Given the description of an element on the screen output the (x, y) to click on. 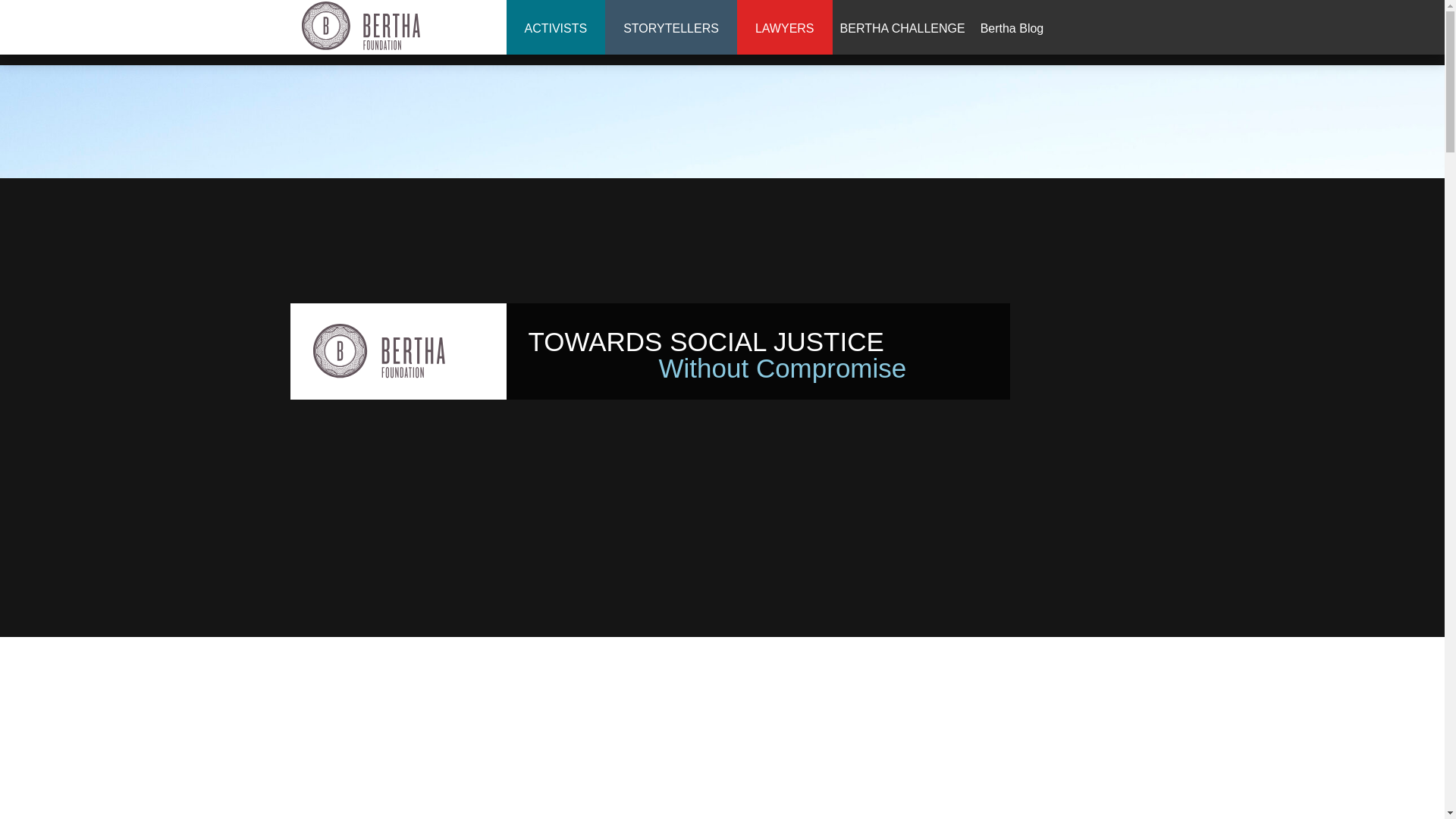
BERTHA CHALLENGE (902, 28)
ACTIVISTS (555, 28)
Bertha Blog (1011, 28)
LAWYERS (784, 28)
STORYTELLERS (670, 28)
